Given the description of an element on the screen output the (x, y) to click on. 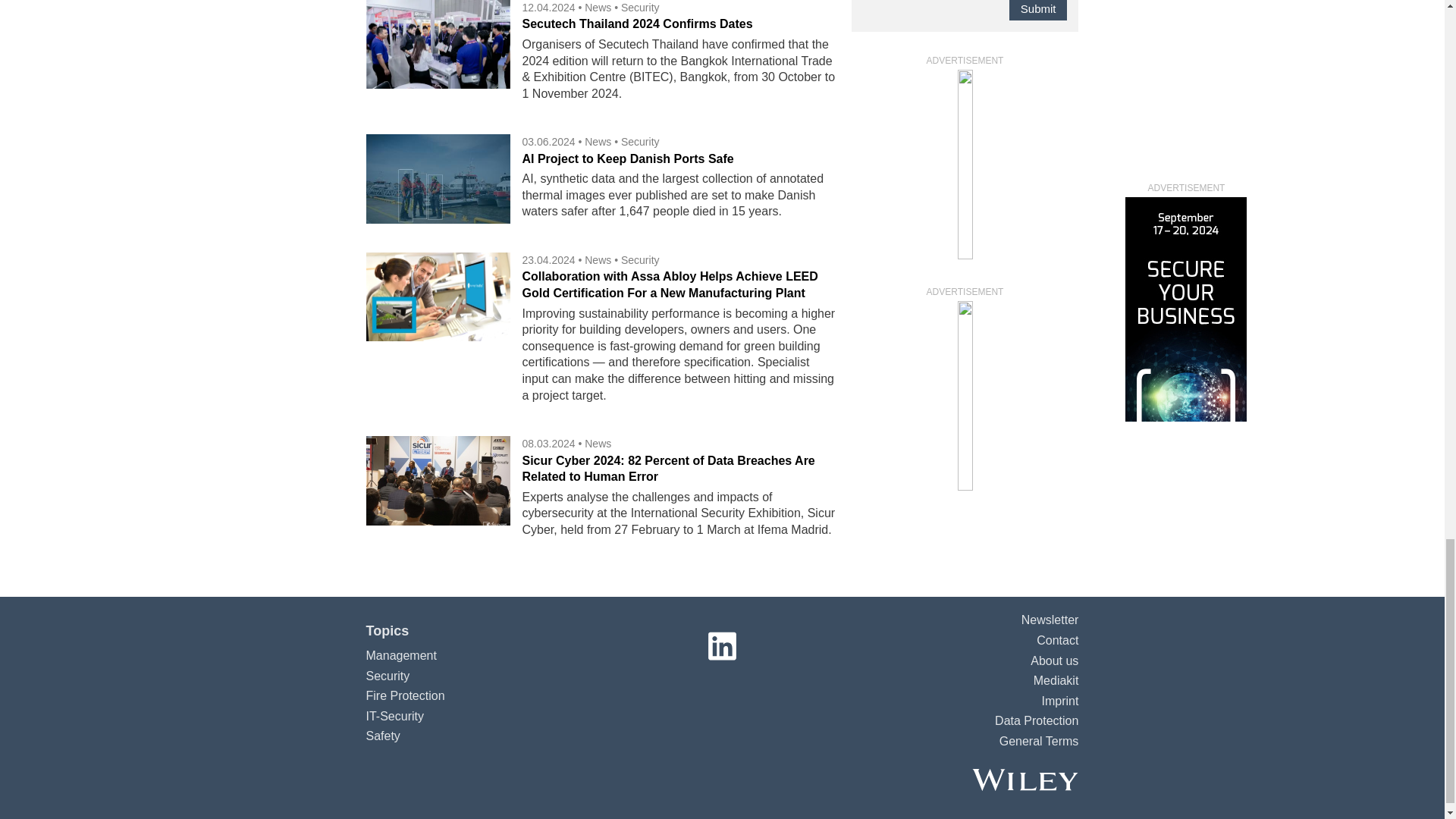
Secutech Thailand 2024 Confirms Dates (636, 23)
AI Project to Keep Danish Ports Safe (627, 158)
